Given the description of an element on the screen output the (x, y) to click on. 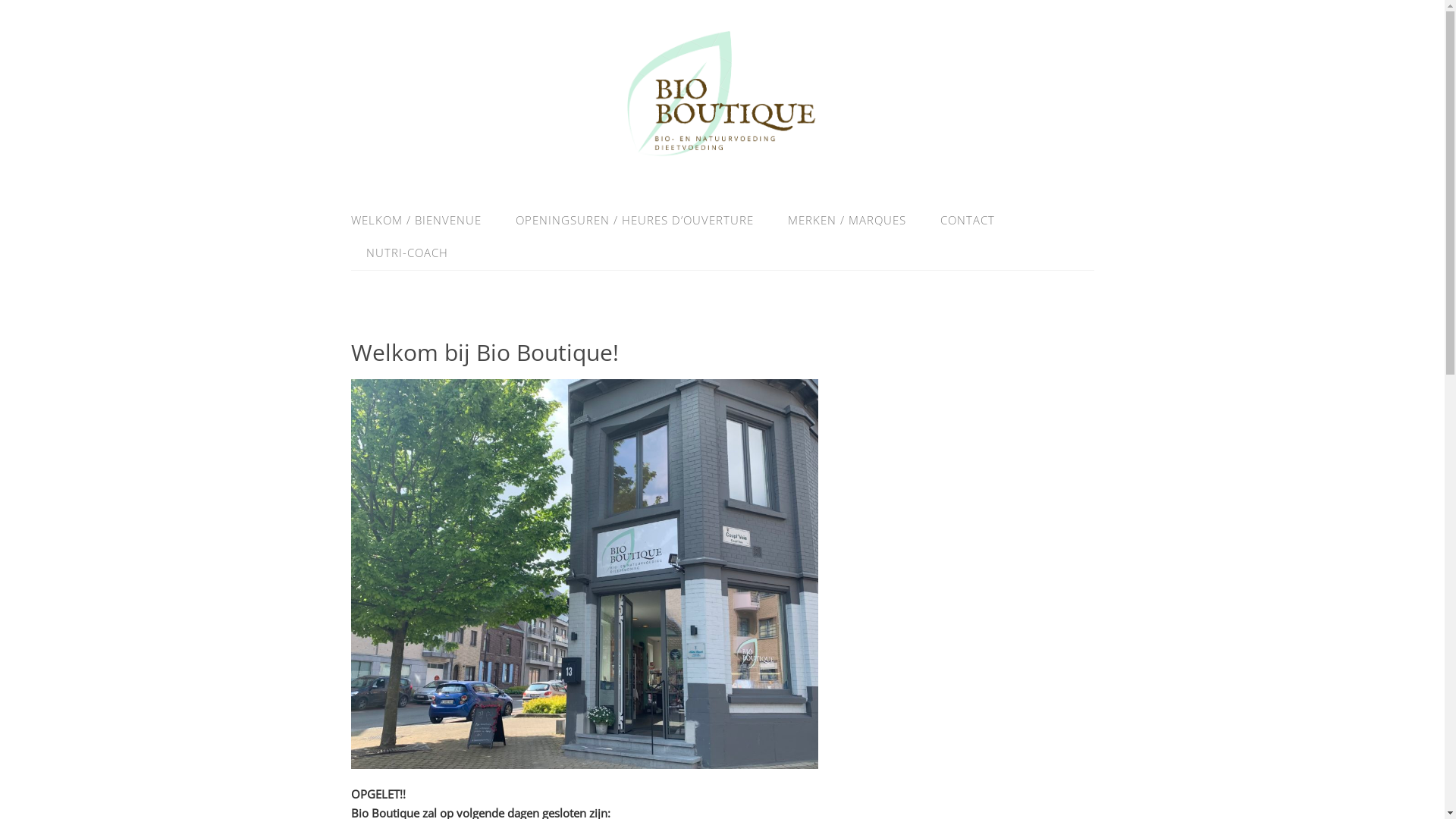
NUTRI-COACH Element type: text (398, 252)
CONTACT Element type: text (967, 219)
MERKEN / MARQUES Element type: text (845, 219)
WELKOM / BIENVENUE Element type: text (422, 219)
Bio Boutique Element type: hover (722, 165)
